Given the description of an element on the screen output the (x, y) to click on. 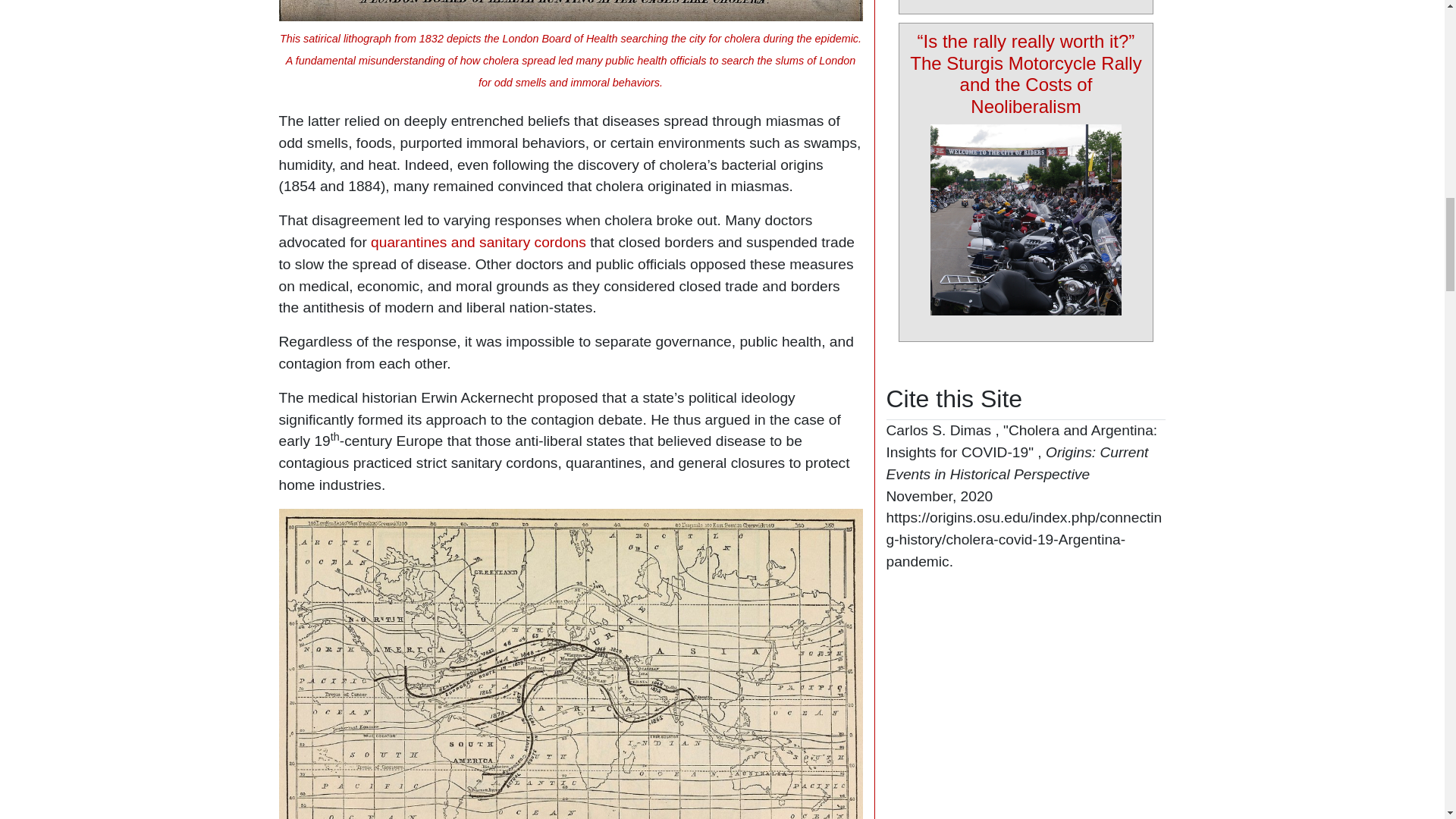
quarantines and sanitary cordons (478, 242)
